Given the description of an element on the screen output the (x, y) to click on. 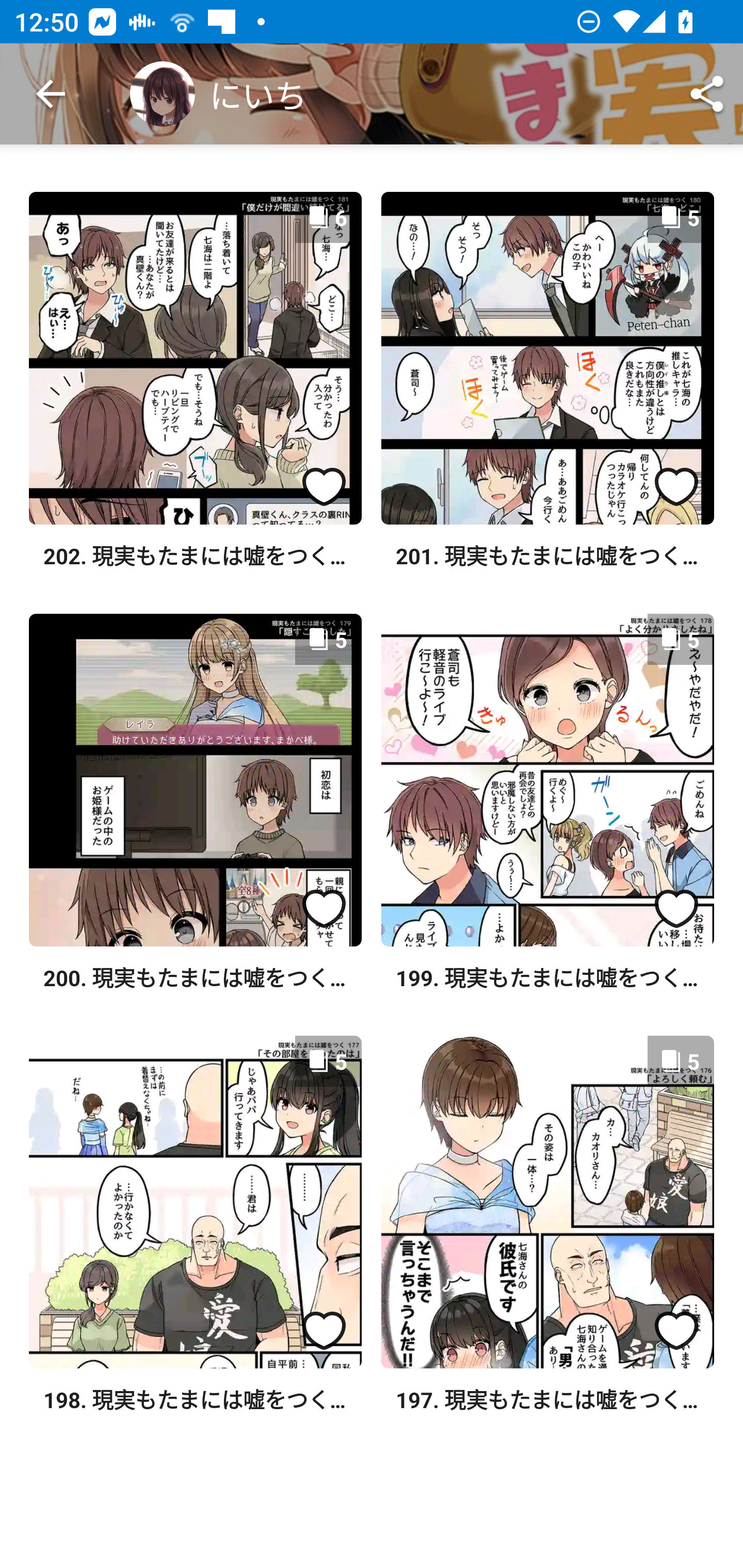
Navigate up (50, 93)
Share (706, 93)
にいち (218, 94)
6 (194, 358)
5 (547, 358)
5 (194, 780)
5 (547, 780)
5 (194, 1202)
5 (547, 1202)
